Given the description of an element on the screen output the (x, y) to click on. 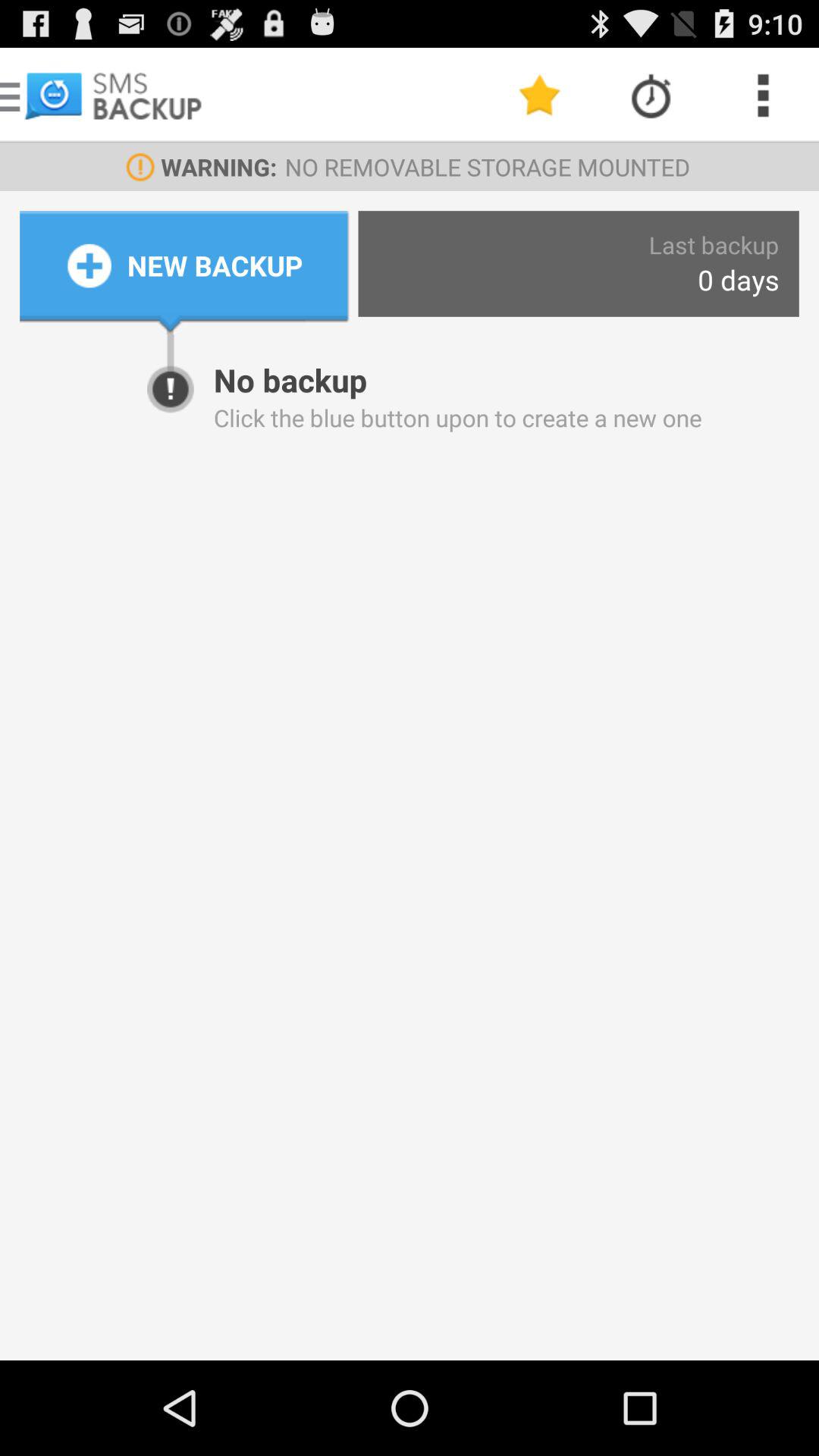
click the app to the right of the new backup (713, 244)
